Given the description of an element on the screen output the (x, y) to click on. 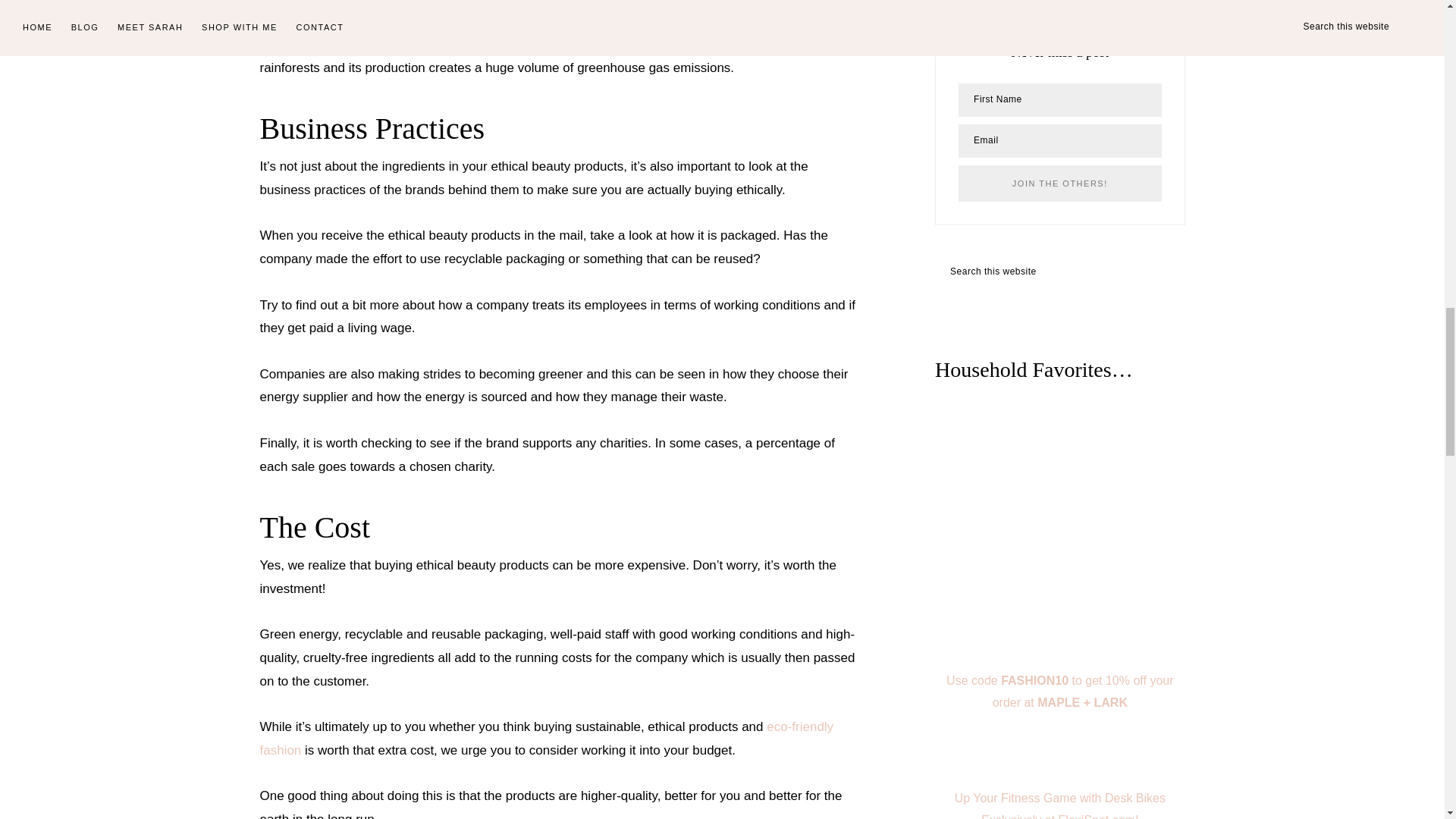
Join the Others! (1059, 183)
